Given the description of an element on the screen output the (x, y) to click on. 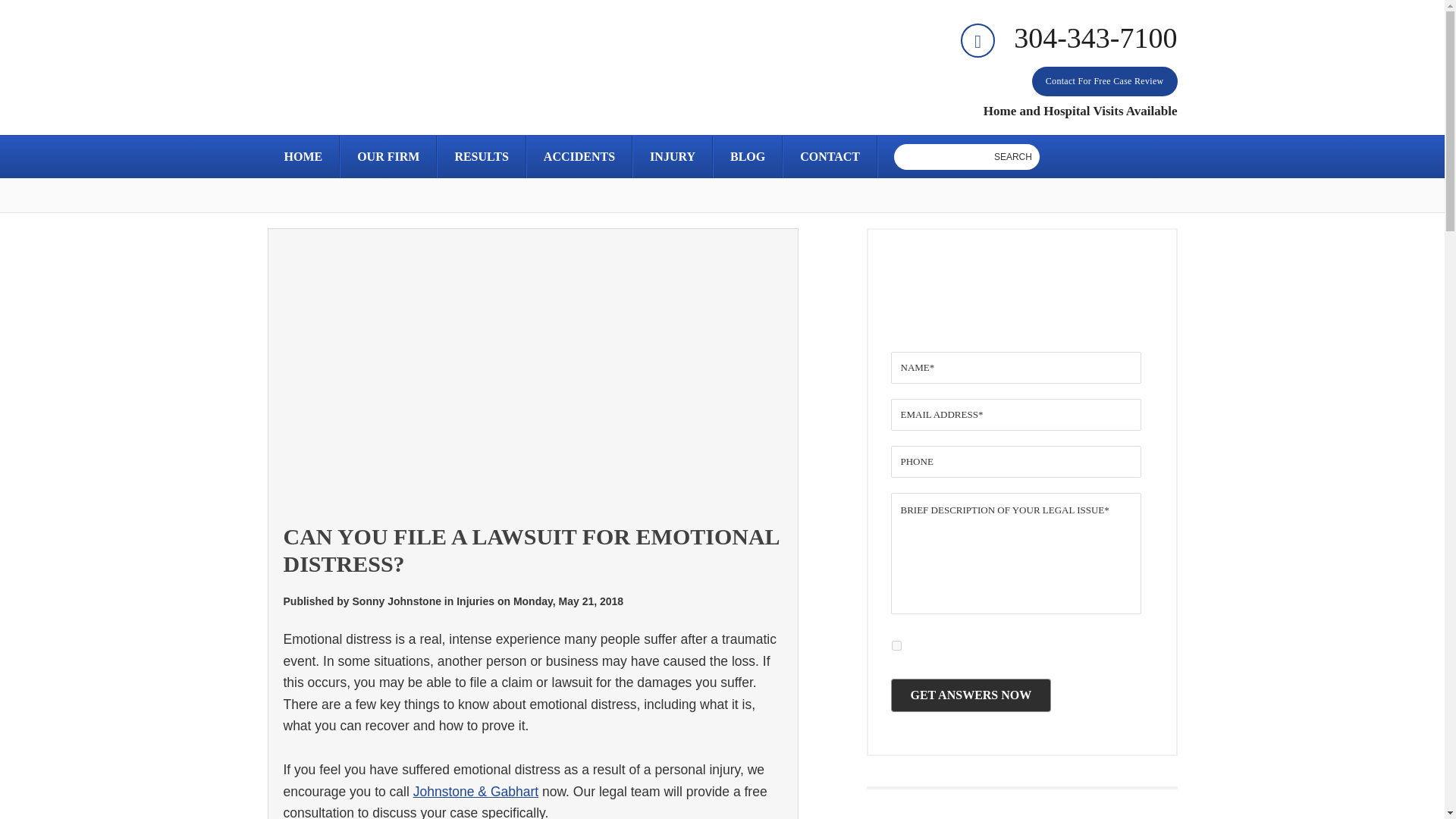
HOME (302, 156)
RESULTS (481, 156)
Get Answers Now (970, 694)
304-343-7100 (1068, 38)
INJURY (672, 156)
OUR FIRM (387, 156)
ACCIDENTS (579, 156)
Contact For Free Case Review (1104, 81)
